Given the description of an element on the screen output the (x, y) to click on. 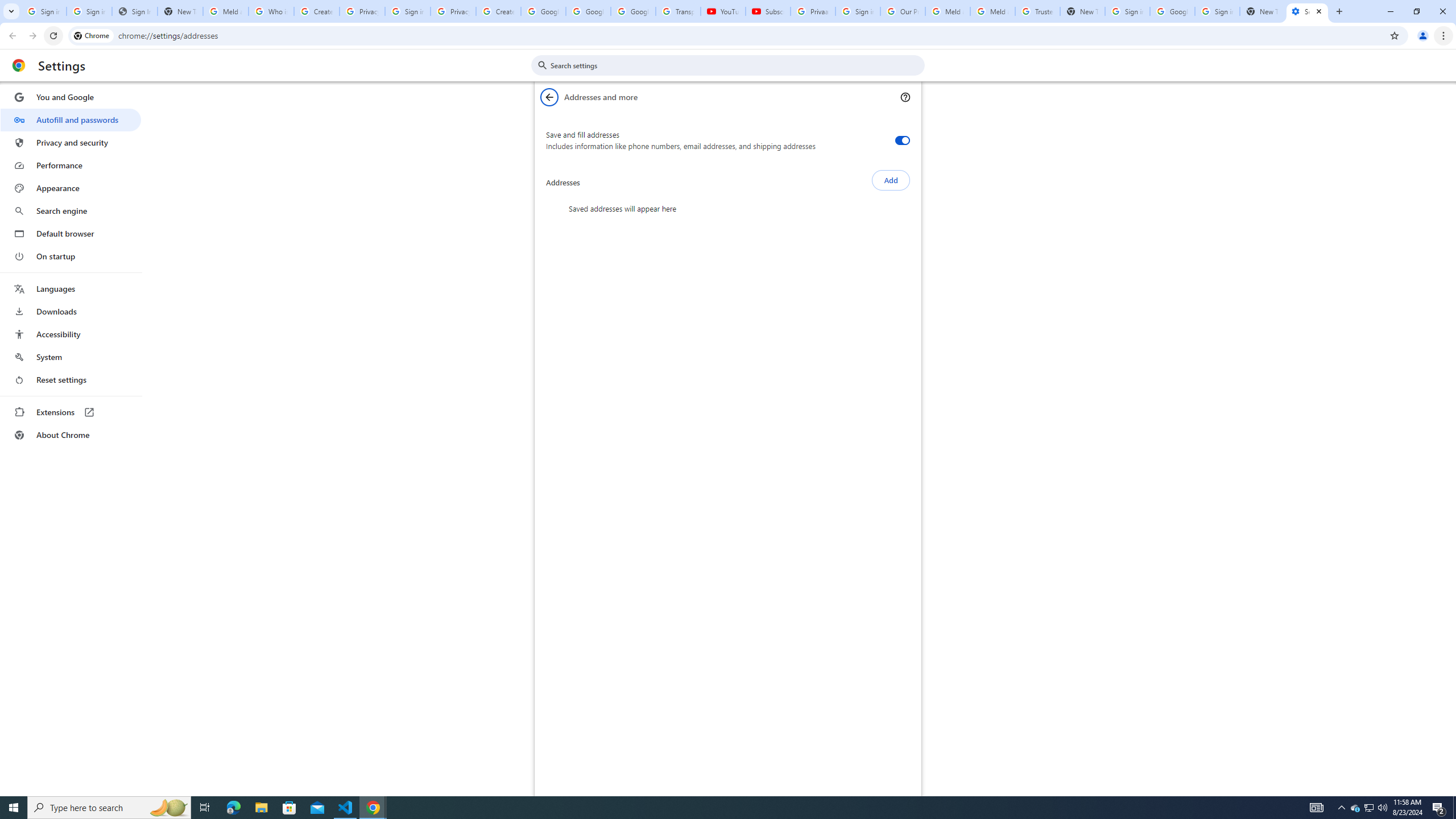
Subscriptions - YouTube (767, 11)
Google Cybersecurity Innovations - Google Safety Center (1171, 11)
Languages (70, 288)
On startup (70, 255)
Trusted Information and Content - Google Safety Center (1037, 11)
Search settings (735, 65)
AutomationID: menu (71, 265)
Extensions (70, 412)
YouTube (723, 11)
